Given the description of an element on the screen output the (x, y) to click on. 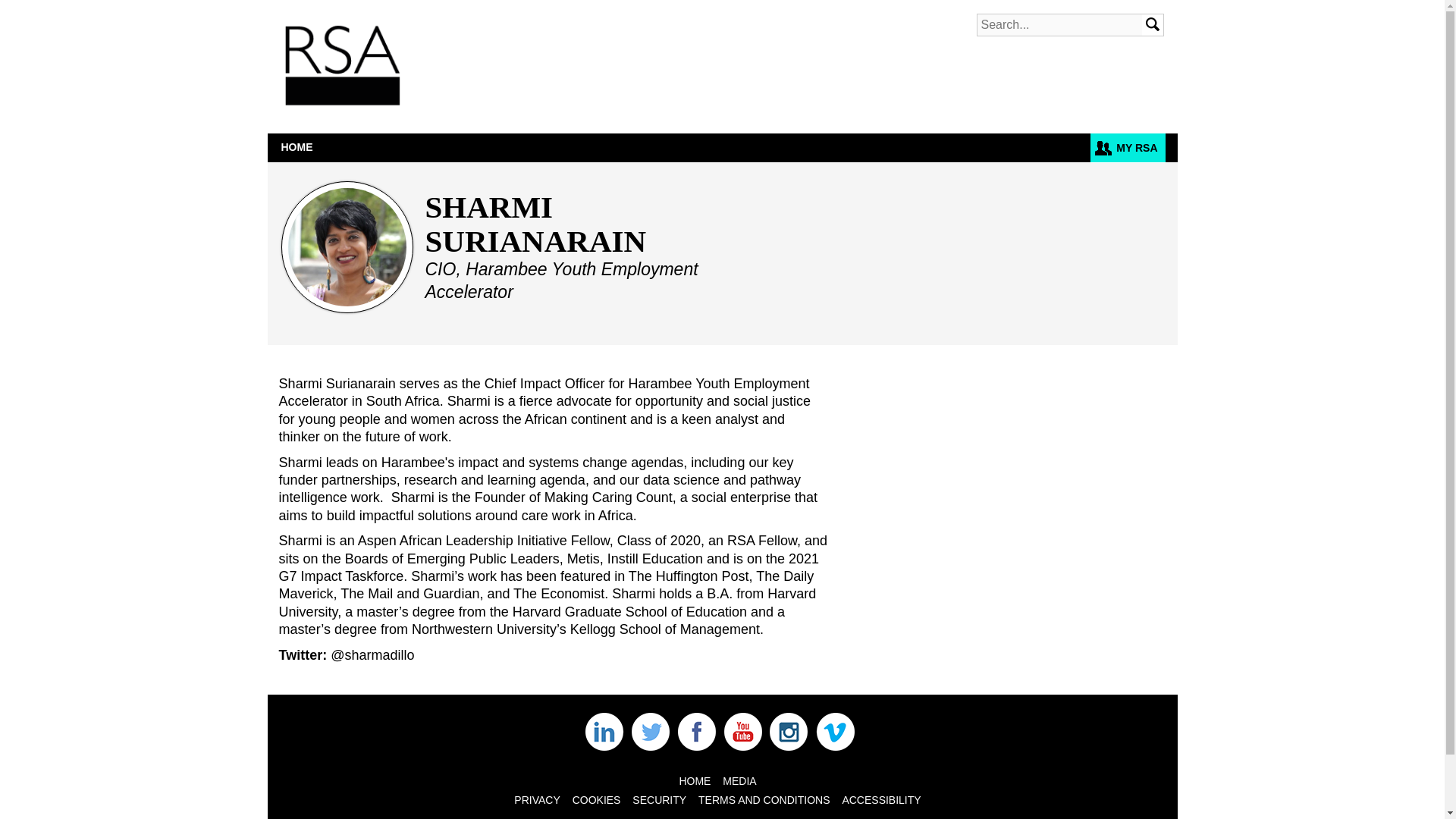
COOKIES (596, 799)
PRIVACY (536, 799)
ACCESSIBILITY (880, 799)
TERMS AND CONDITIONS (763, 799)
MY RSA (1127, 147)
SECURITY (658, 799)
GO (1152, 25)
HOME (295, 147)
HOME (694, 780)
MEDIA (738, 780)
